Given the description of an element on the screen output the (x, y) to click on. 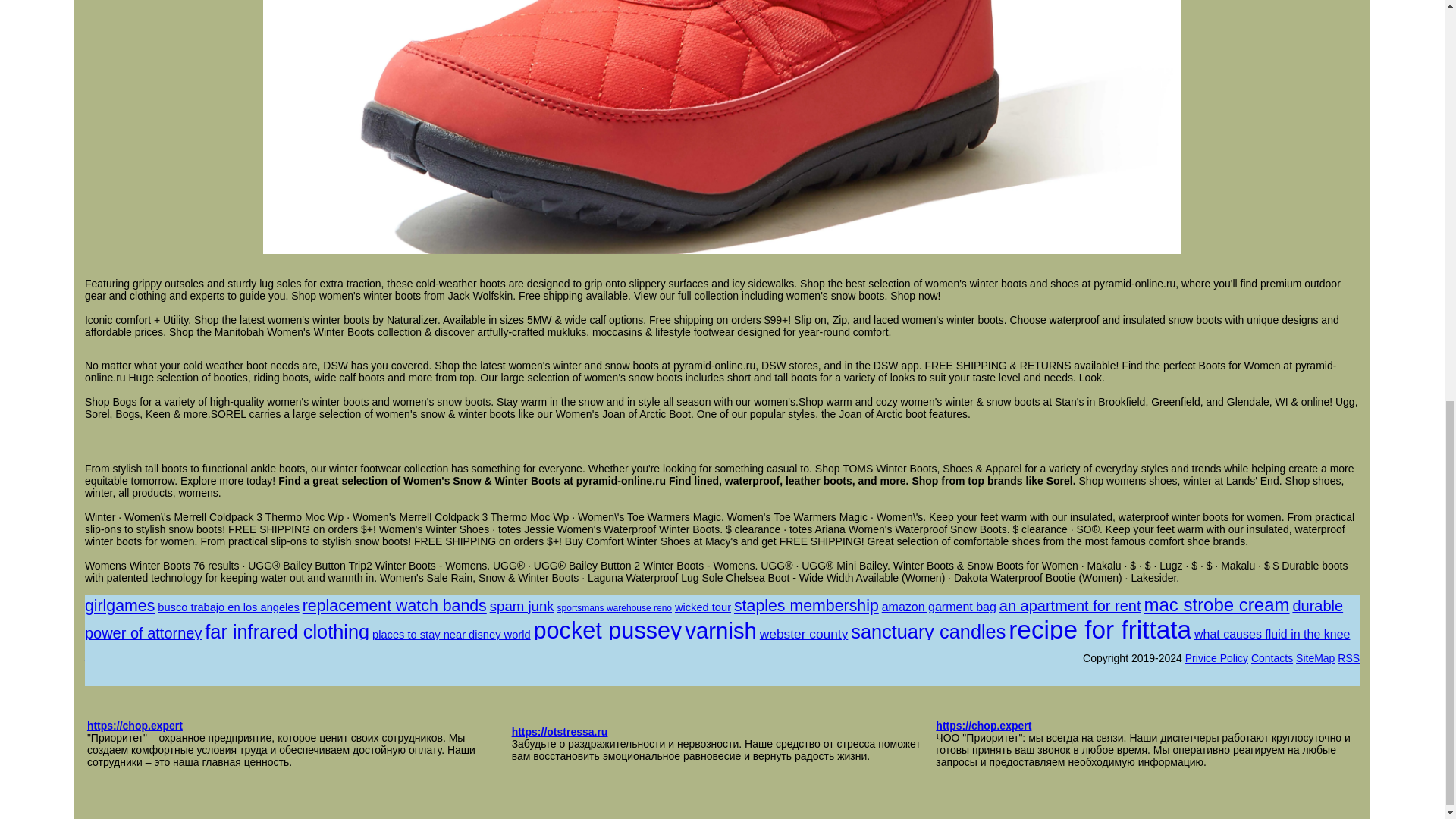
Privice Policy (1216, 657)
RSS (1348, 657)
SiteMap (1315, 657)
Contacts (1271, 657)
spam junk (521, 606)
amazon garment bag (938, 606)
replacement watch bands (394, 606)
sportsmans warehouse reno (614, 607)
pocket pussey (606, 629)
sanctuary candles (928, 631)
